Given the description of an element on the screen output the (x, y) to click on. 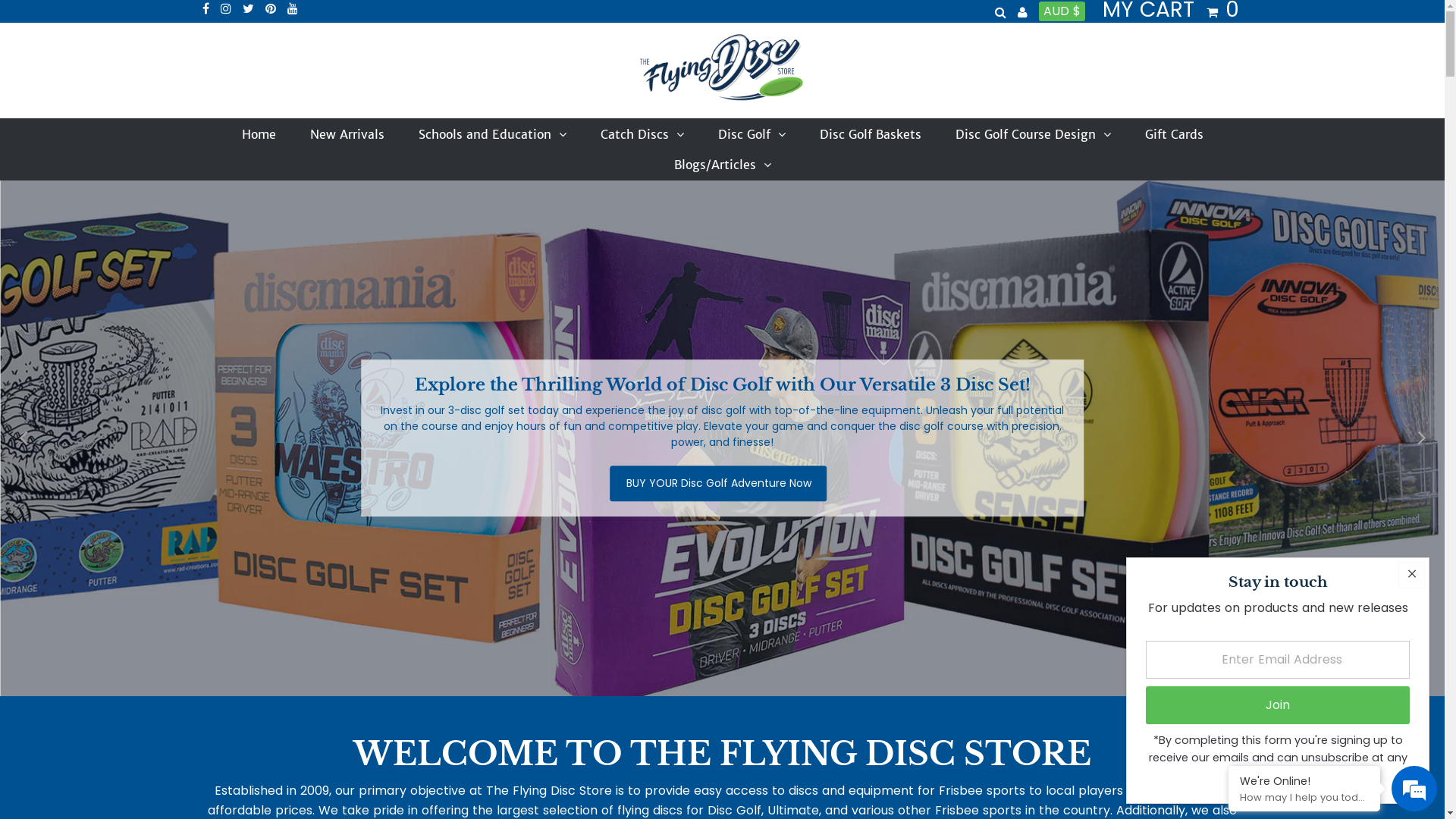
Blogs/Articles Element type: text (721, 164)
New Arrivals Element type: text (346, 134)
Join Element type: text (1277, 705)
Disc Golf Baskets Element type: text (869, 134)
Disc Golf Element type: text (751, 134)
Catch Discs Element type: text (642, 134)
Schools and Education Element type: text (492, 134)
MY CART    0 Element type: text (1170, 11)
Disc Golf Course Design Element type: text (1033, 134)
Home Element type: text (257, 134)
AUD $ Element type: text (1061, 11)
Gift Cards Element type: text (1173, 134)
Close popup Element type: hover (1411, 574)
